Given the description of an element on the screen output the (x, y) to click on. 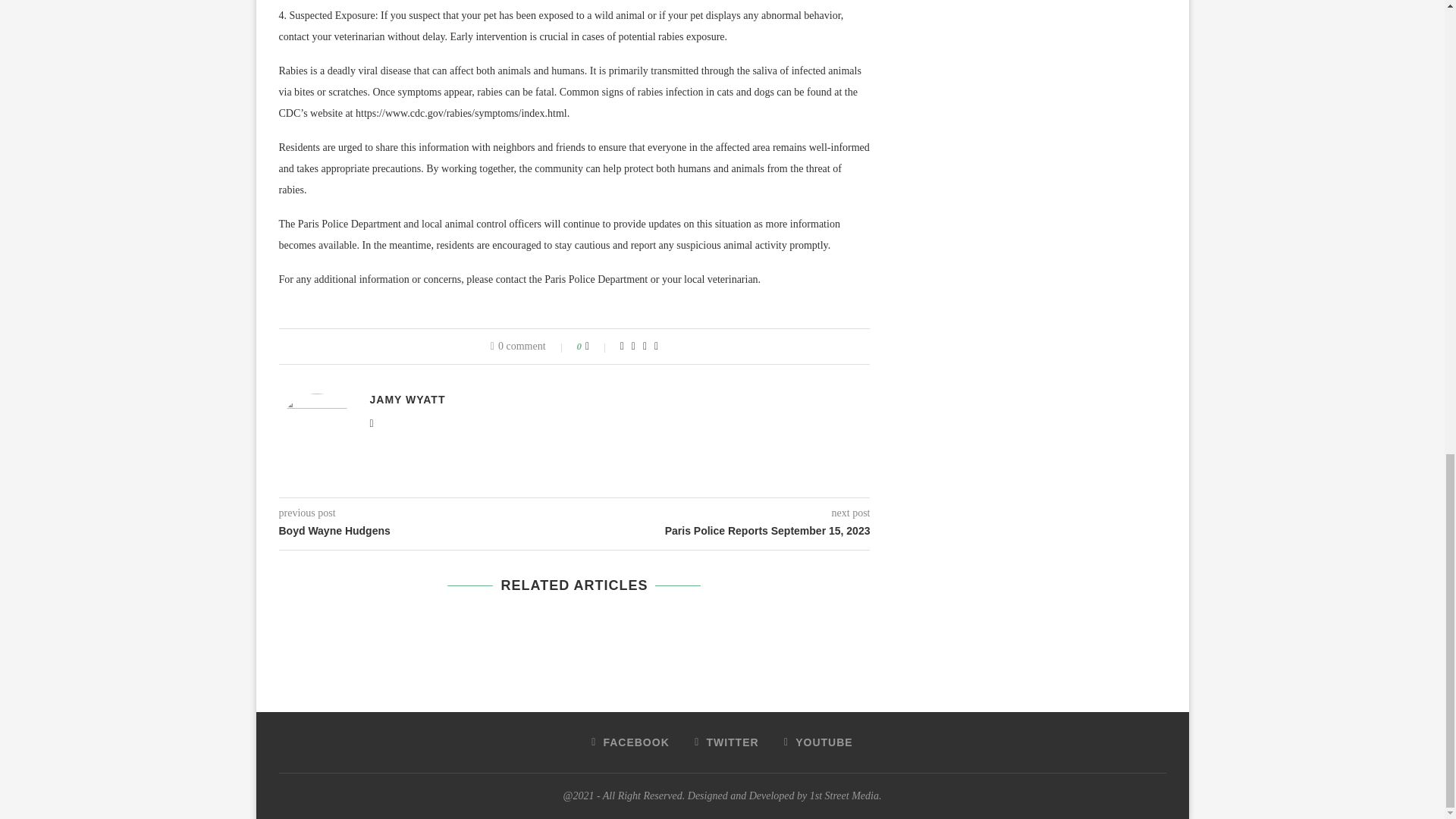
Like (597, 346)
Posts by Jamy Wyatt (407, 399)
